Given the description of an element on the screen output the (x, y) to click on. 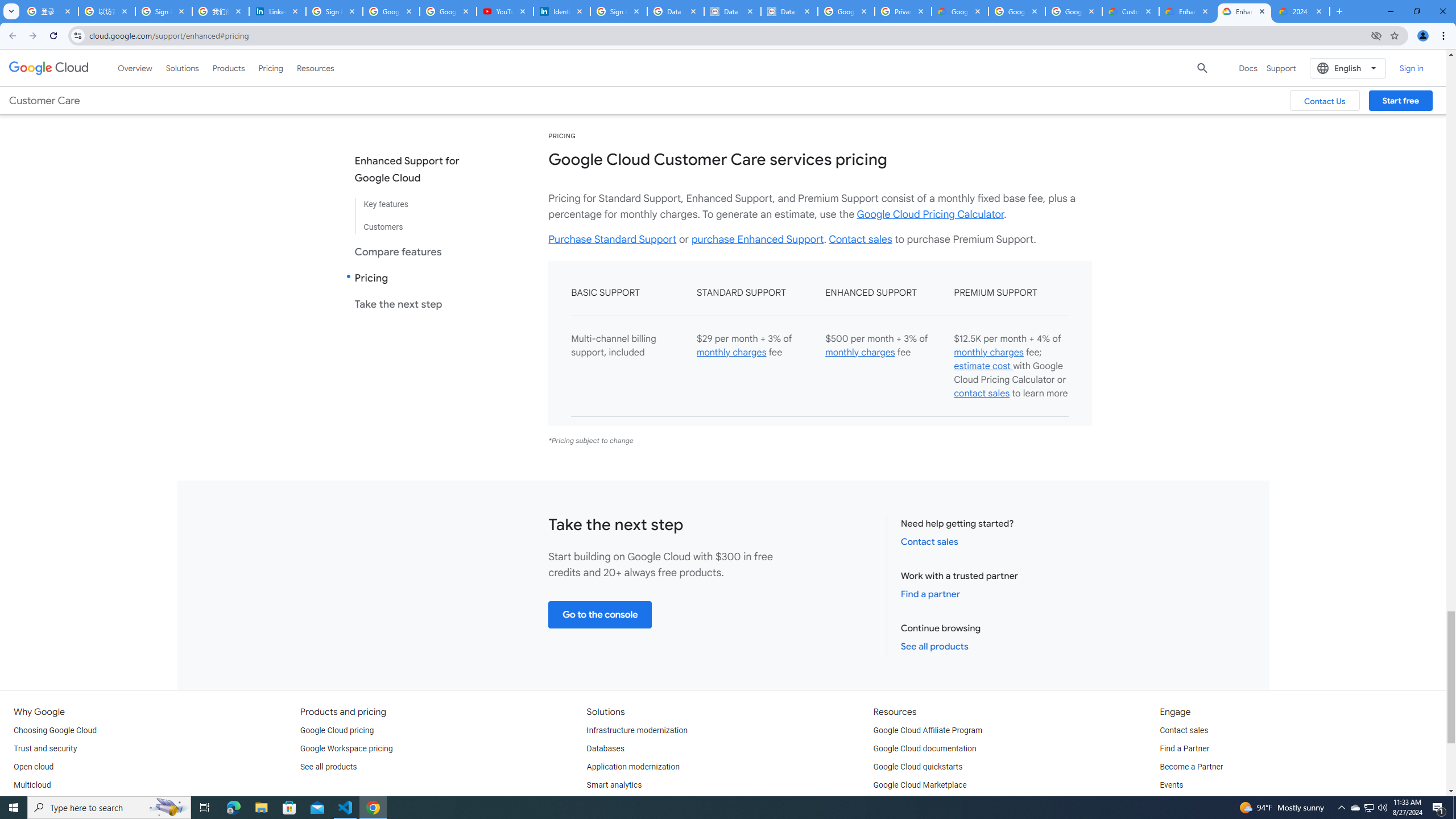
Solutions (181, 67)
Infrastructure modernization (637, 730)
Pricing (270, 67)
Data Privacy Framework (788, 11)
Media CDN (992, 66)
Open cloud (33, 766)
